Given the description of an element on the screen output the (x, y) to click on. 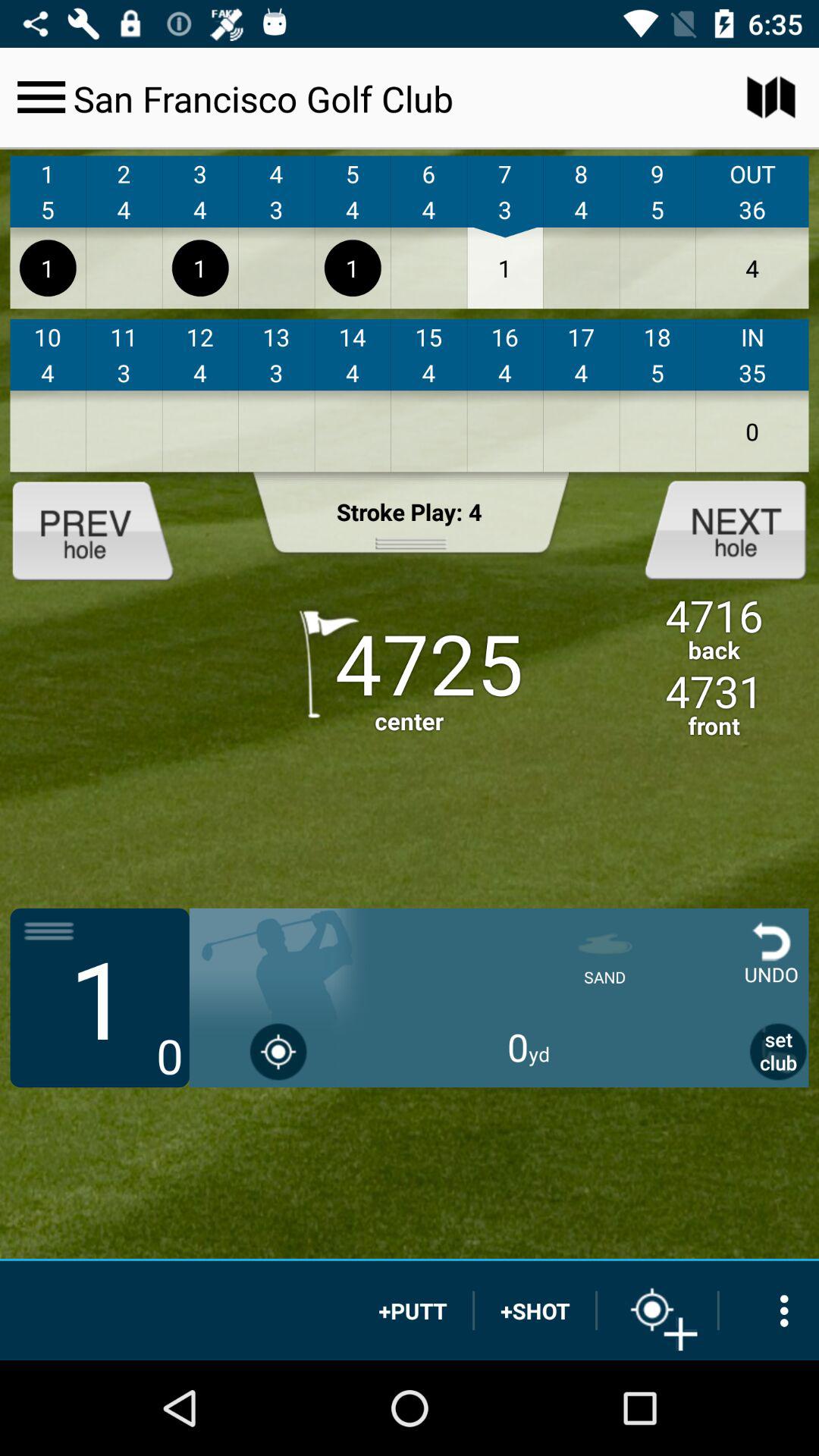
go to next (712, 528)
